Given the description of an element on the screen output the (x, y) to click on. 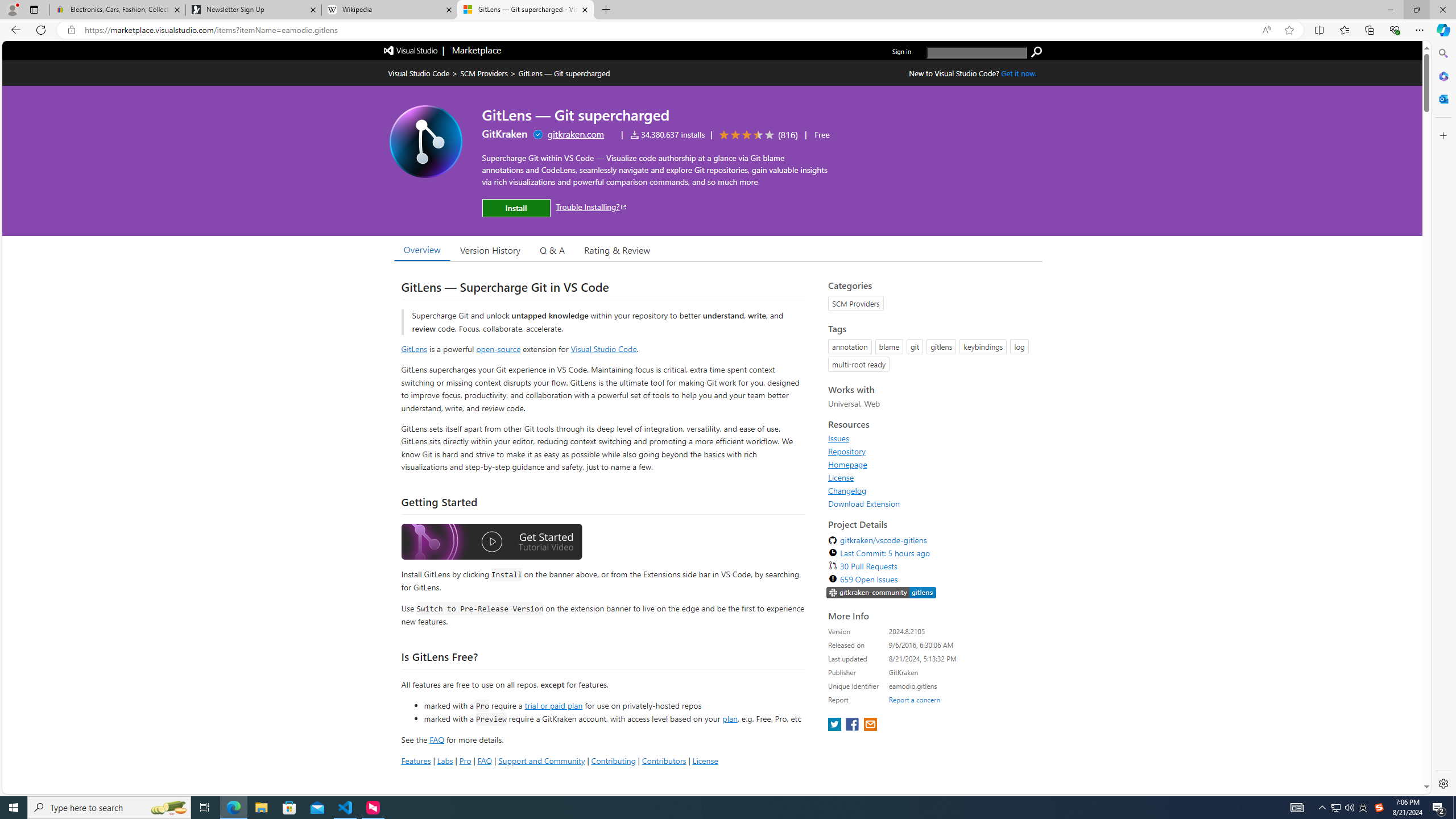
trial or paid plan (553, 704)
https://slack.gitkraken.com// (881, 593)
Visual Studio Code (603, 348)
Labs (444, 760)
GitLens (414, 348)
Wikipedia (390, 9)
plan (730, 718)
License (931, 477)
Download Extension (931, 503)
